Given the description of an element on the screen output the (x, y) to click on. 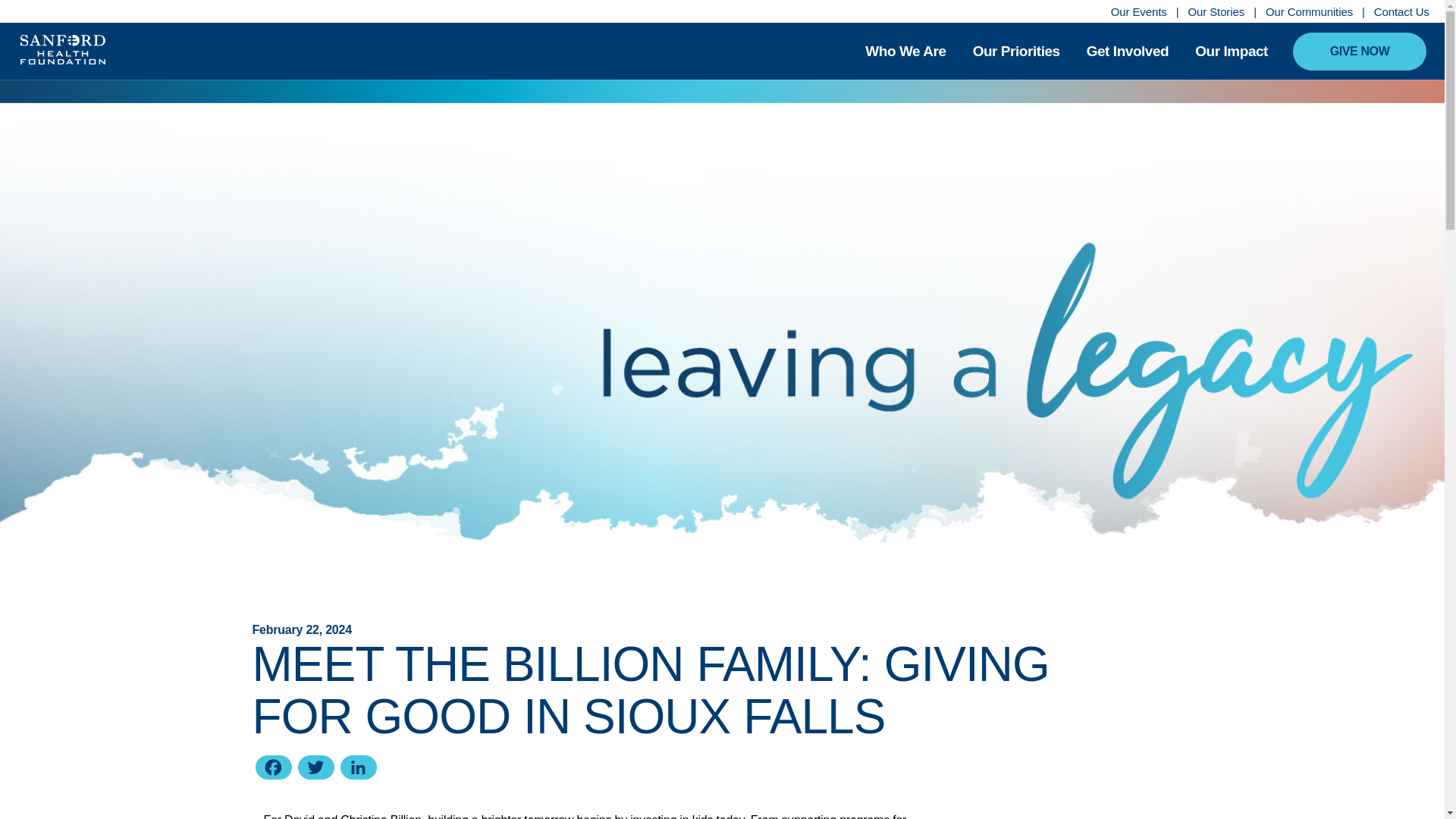
Our Events (1138, 10)
Our Stories (1216, 10)
Our Communities (1308, 10)
Twitter (315, 768)
LinkedIn (357, 768)
Who We Are (904, 55)
Get Involved (1127, 55)
Facebook (272, 768)
Contact Us (1401, 10)
Our Priorities (1015, 55)
